Given the description of an element on the screen output the (x, y) to click on. 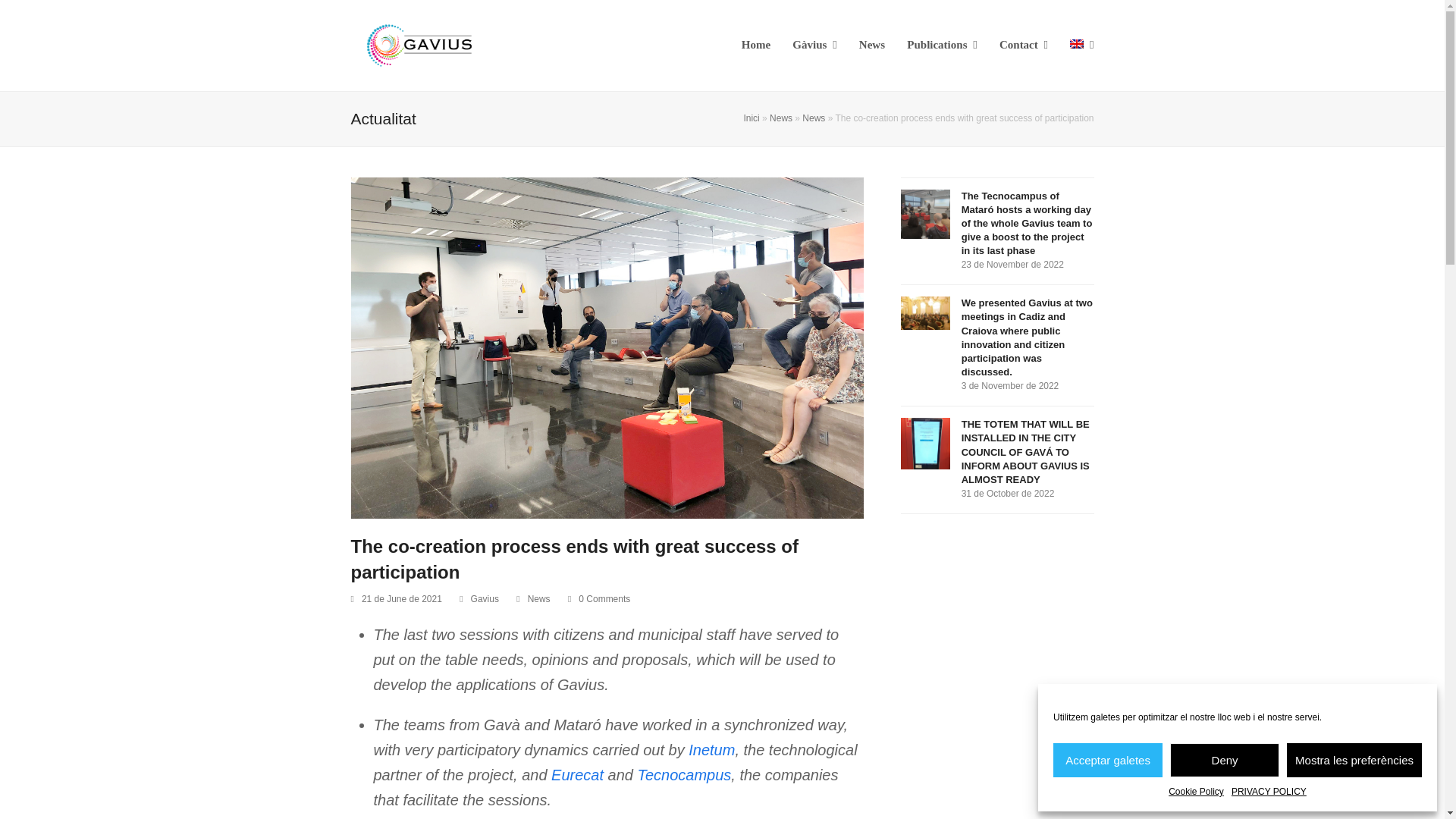
Gavius (484, 598)
Deny (1224, 759)
Contact (1023, 45)
Tecnocampus (684, 774)
Publications (941, 45)
Inetum (711, 750)
News (813, 118)
News (538, 598)
0 Comments (604, 598)
0 Comments (598, 599)
News (781, 118)
Posts by Gavius (484, 598)
Inici (750, 118)
Cookie Policy (1196, 792)
Eurecat (577, 774)
